Given the description of an element on the screen output the (x, y) to click on. 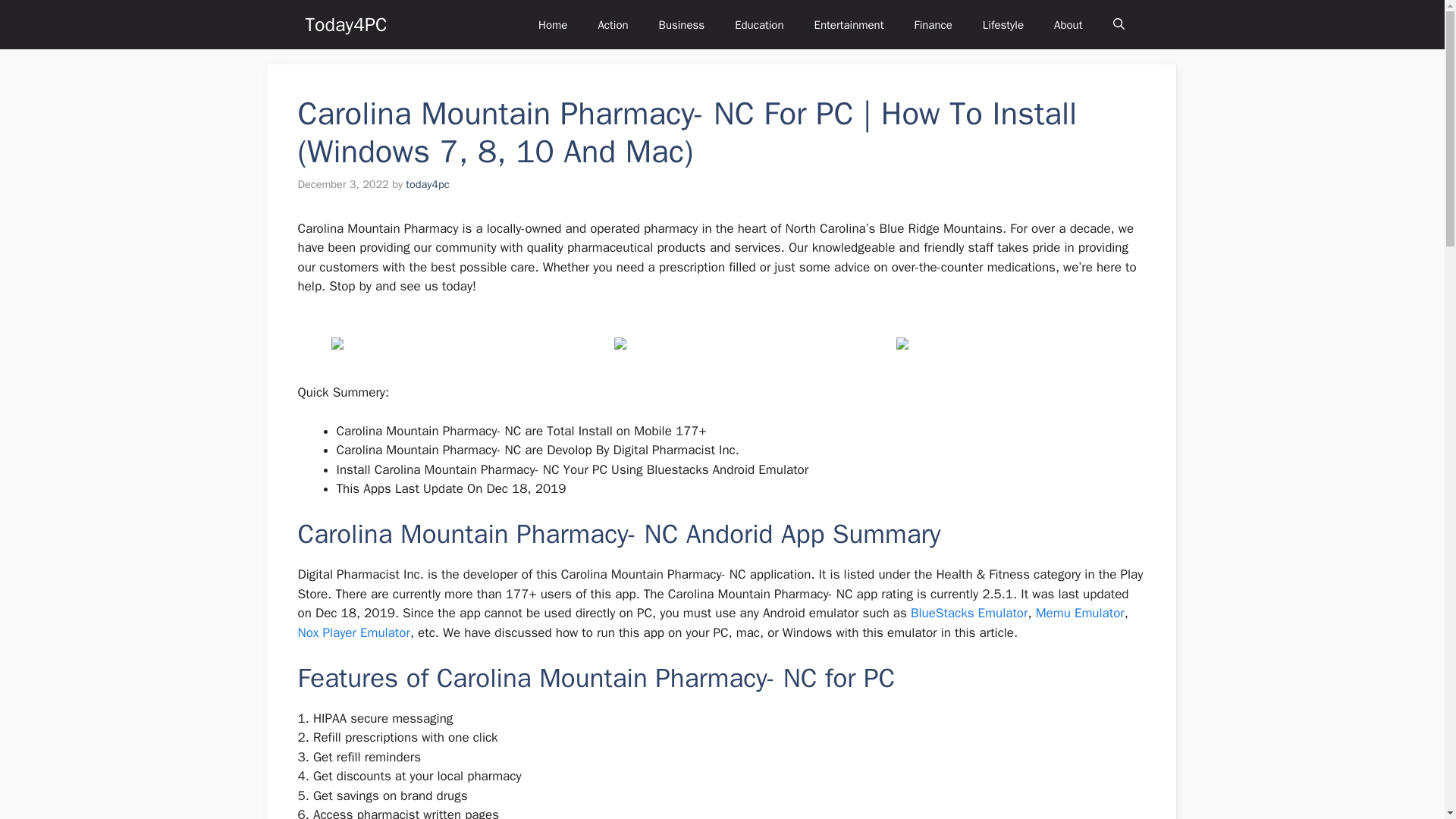
BlueStacks Emulator (969, 612)
Finance (932, 23)
Today4PC (345, 24)
Entertainment (849, 23)
Business (681, 23)
Lifestyle (1003, 23)
View all posts by today4pc (427, 183)
Nox Player Emulator (353, 632)
Home (552, 23)
Education (758, 23)
